Given the description of an element on the screen output the (x, y) to click on. 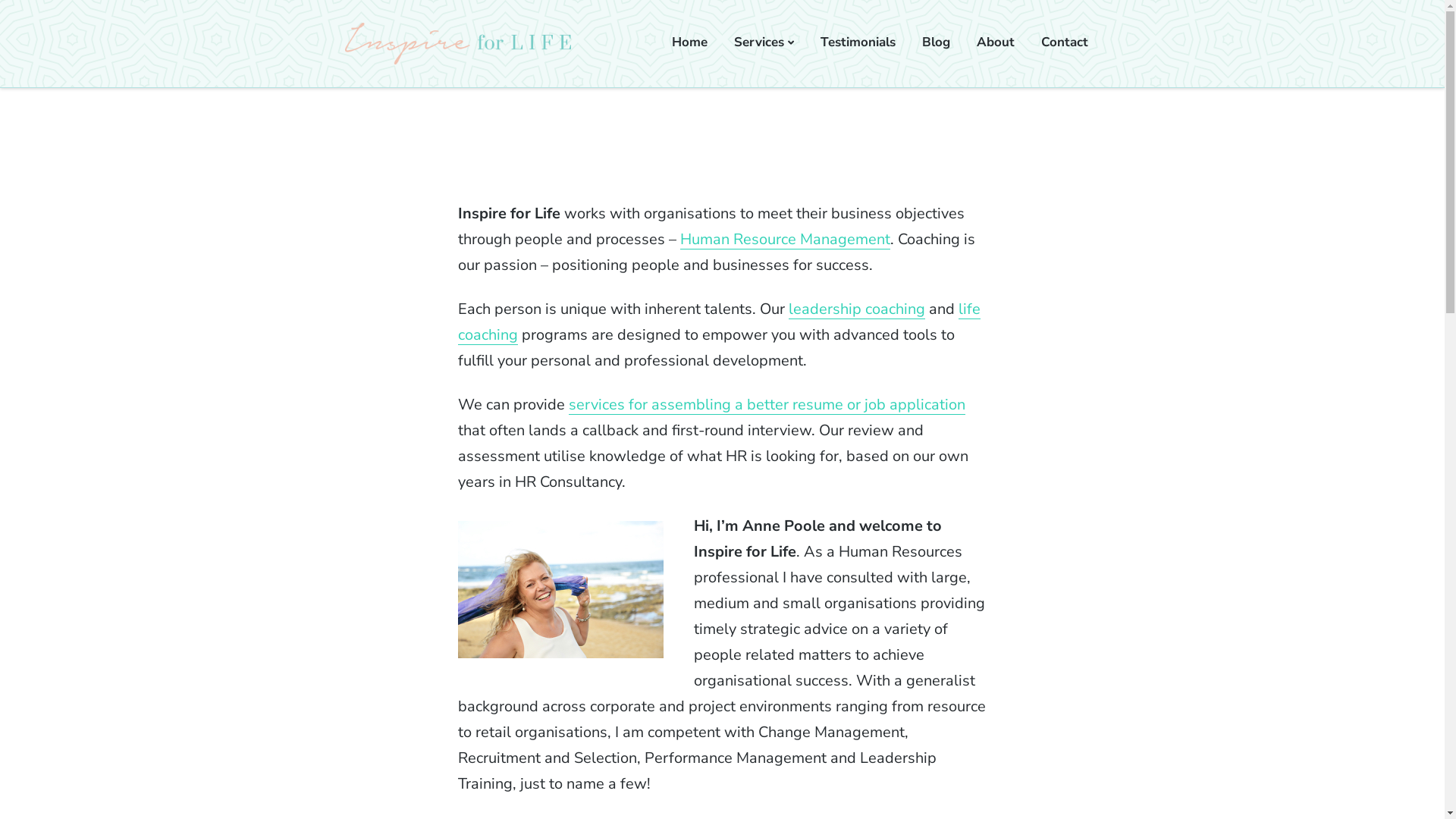
Testimonials Element type: text (857, 42)
Contact Element type: text (1064, 42)
leadership coaching Element type: text (856, 308)
Services Element type: text (763, 42)
services for assembling a better resume or job application Element type: text (766, 404)
Inspire for Life Element type: text (411, 82)
Home Element type: text (689, 42)
Human Resource Management Element type: text (785, 239)
Blog Element type: text (936, 42)
life coaching Element type: text (719, 321)
About Element type: text (995, 42)
